Given the description of an element on the screen output the (x, y) to click on. 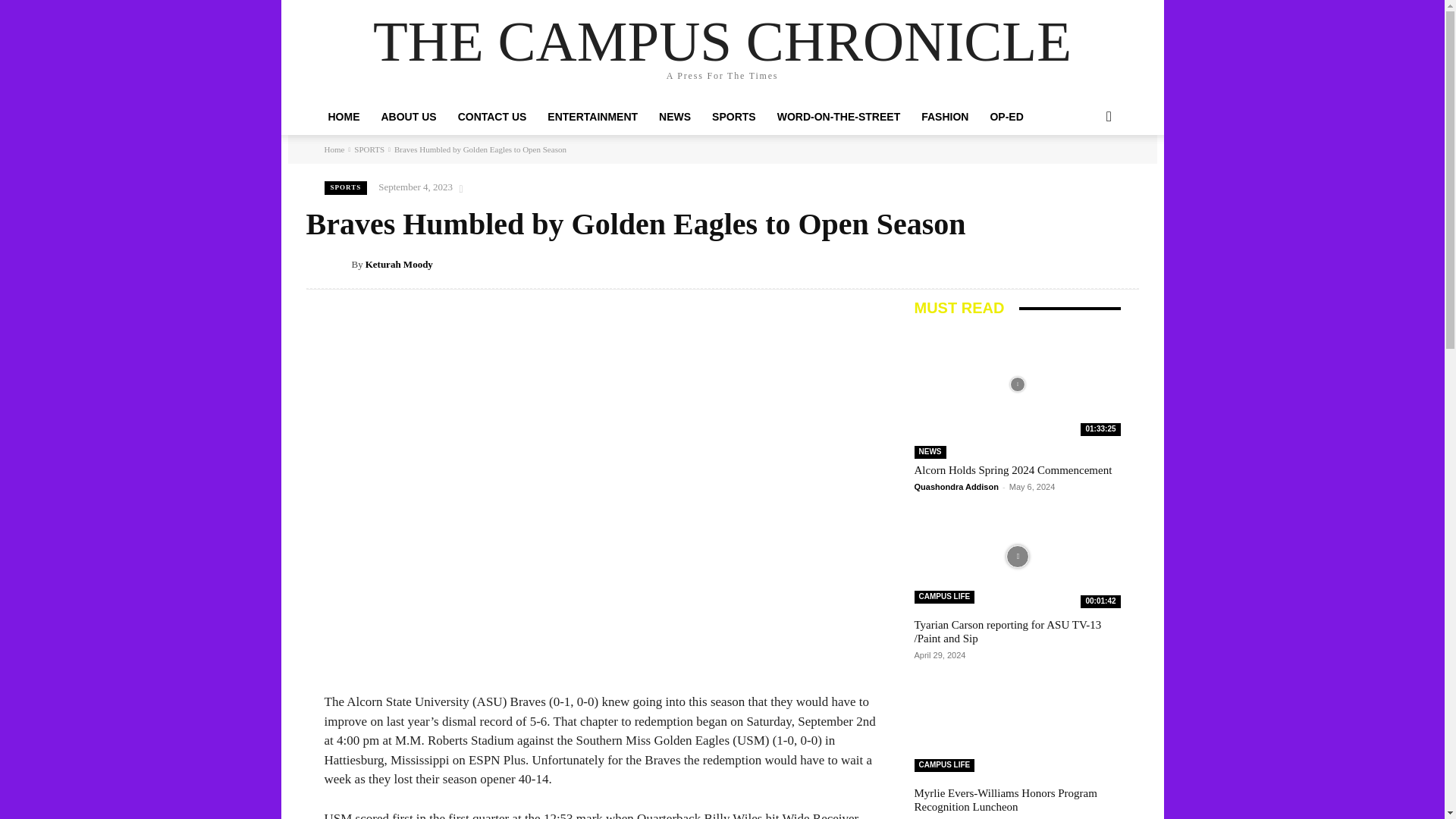
NEWS (674, 116)
ENTERTAINMENT (592, 116)
HOME (343, 116)
View all posts in SPORTS (368, 148)
ABOUT US (407, 116)
THE CAMPUS CHRONICLE (721, 41)
CONTACT US (491, 116)
Keturah Moody (338, 264)
